Given the description of an element on the screen output the (x, y) to click on. 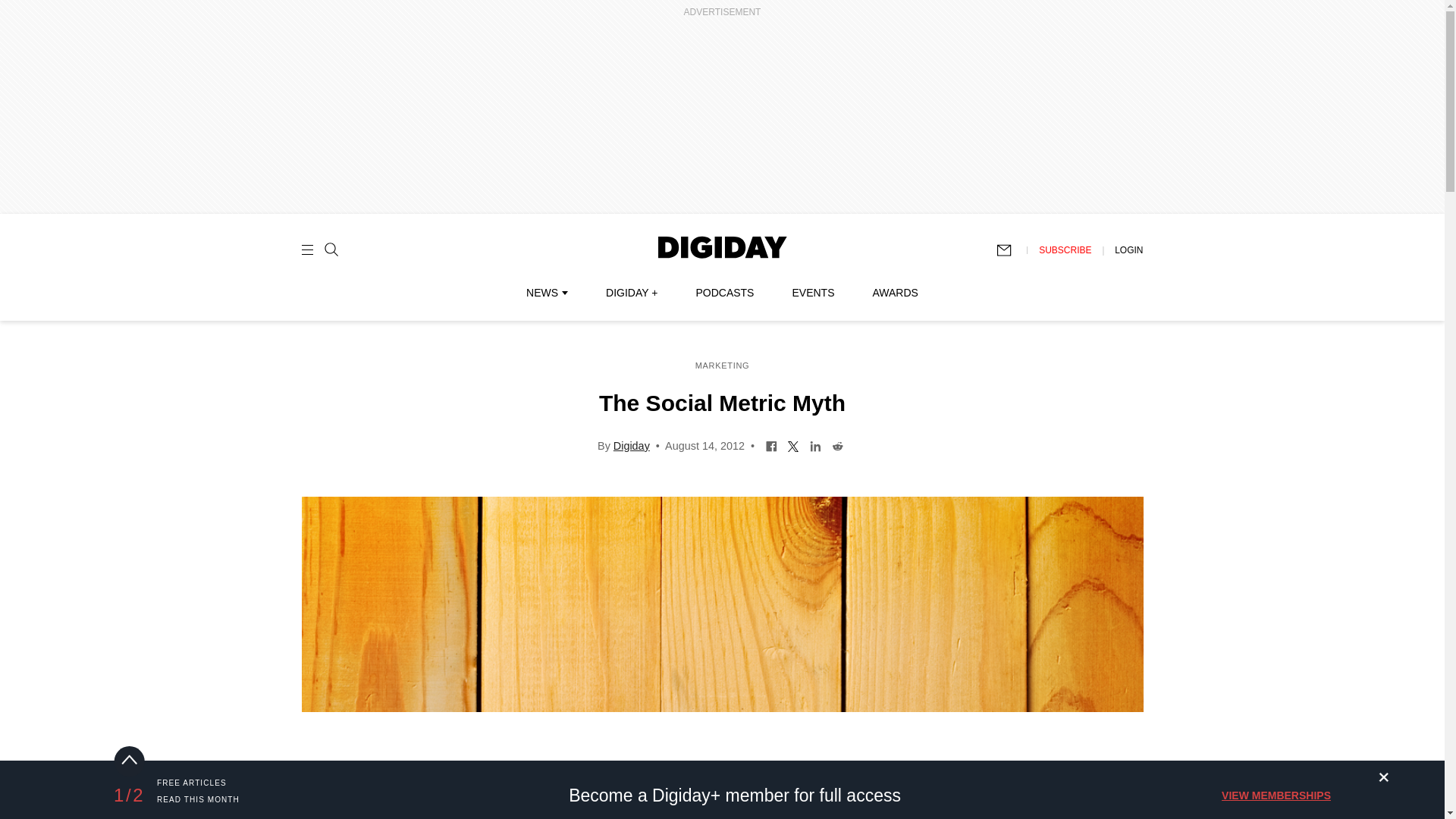
Share on LinkedIn (815, 444)
EVENTS (813, 292)
AWARDS (894, 292)
Share on Facebook (771, 444)
Share on Reddit (837, 444)
LOGIN (1128, 249)
Share on Twitter (793, 444)
Subscribe (1010, 250)
NEWS (546, 292)
SUBSCRIBE (1064, 249)
PODCASTS (725, 292)
